Given the description of an element on the screen output the (x, y) to click on. 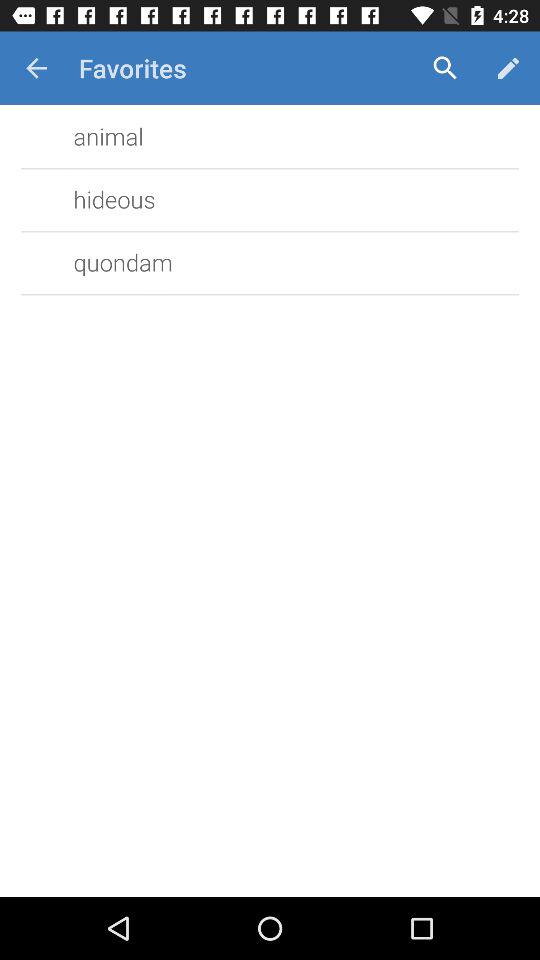
turn off app next to favorites app (444, 67)
